Given the description of an element on the screen output the (x, y) to click on. 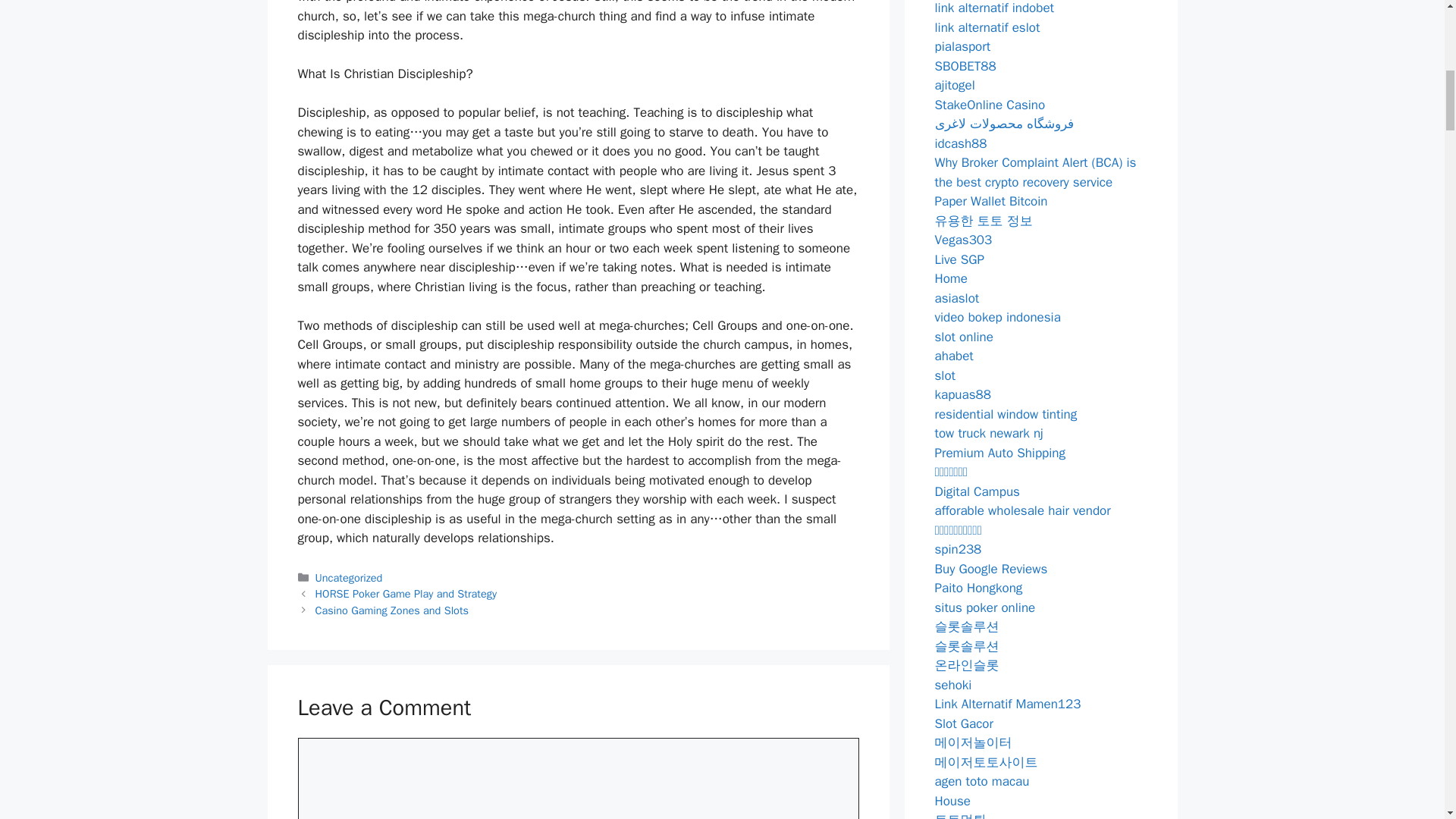
HORSE Poker Game Play and Strategy (405, 593)
Casino Gaming Zones and Slots (391, 610)
Uncategorized (348, 577)
